Given the description of an element on the screen output the (x, y) to click on. 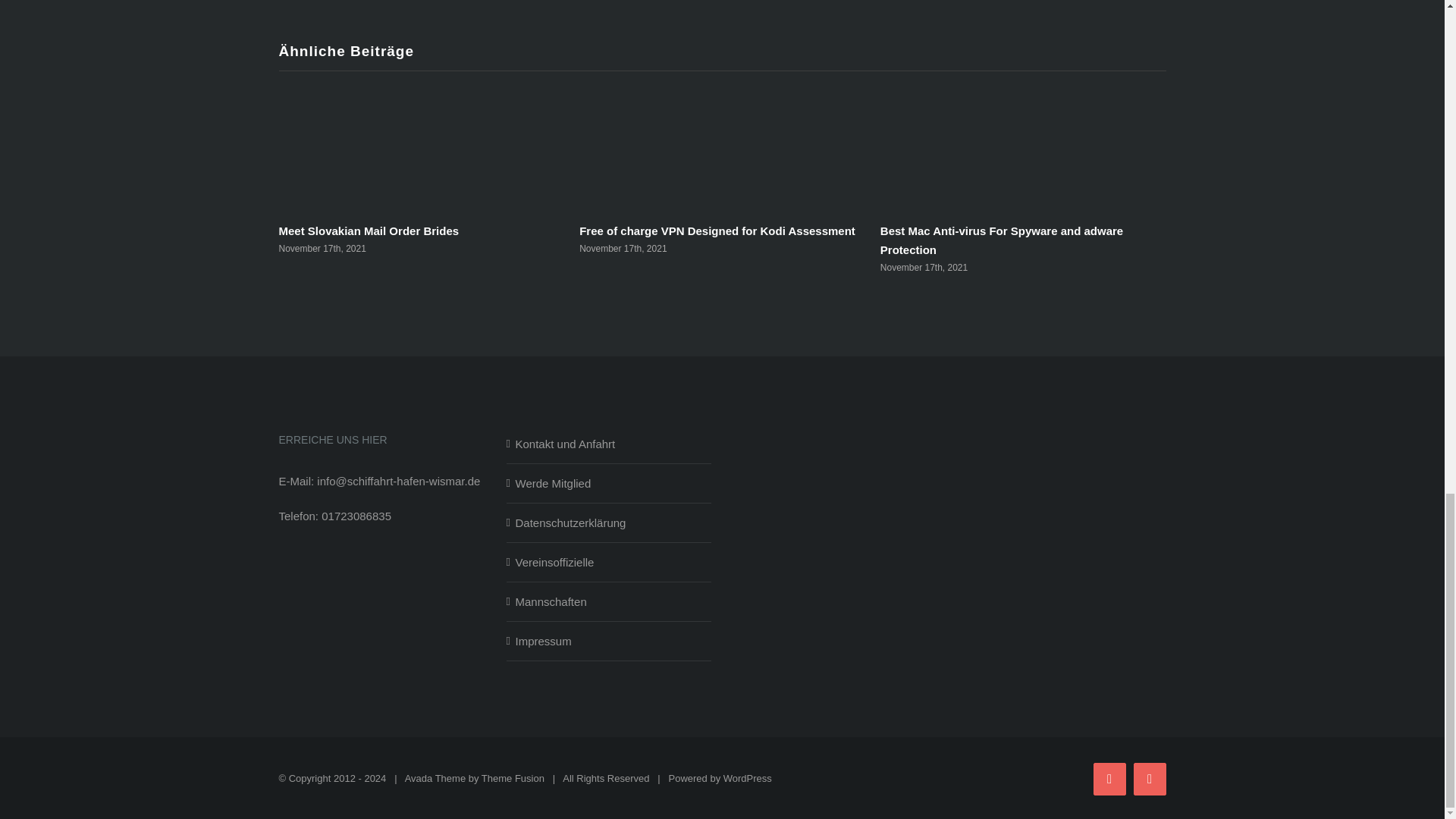
Free of charge VPN Designed for Kodi Assessment (717, 230)
Best Mac Anti-virus For Spyware and adware Protection (1001, 240)
Meet Slovakian Mail Order Brides (368, 230)
